Given the description of an element on the screen output the (x, y) to click on. 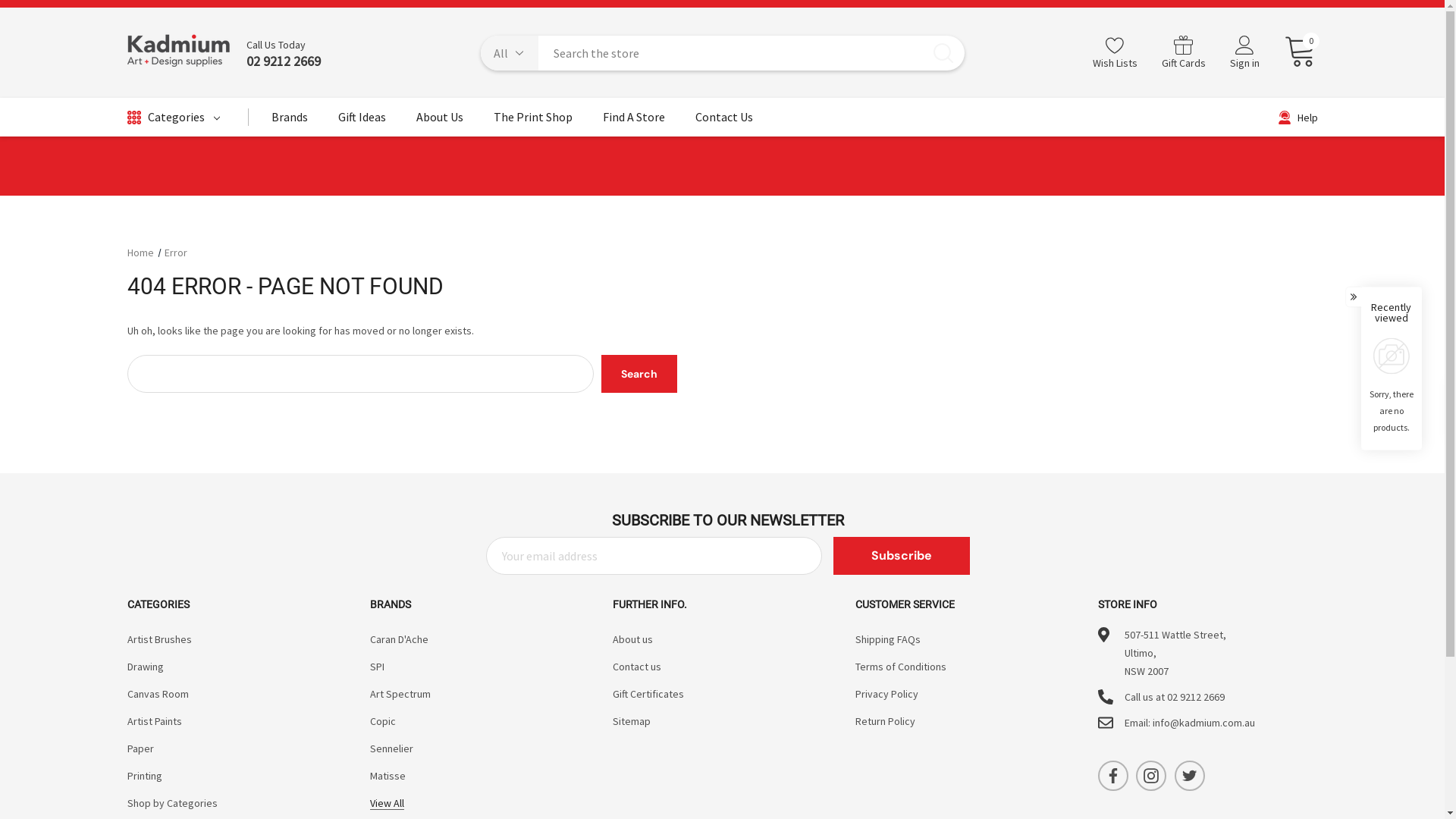
Home Element type: text (140, 252)
Return Policy Element type: text (885, 721)
Sennelier Element type: text (391, 748)
Error Element type: text (175, 252)
Gift Cards Element type: text (1183, 53)
Open Instagram in a new tab Element type: hover (1150, 775)
0 Element type: text (1293, 52)
View All Element type: text (387, 802)
Brands Element type: text (289, 120)
Wish Lists Element type: text (1113, 53)
Caran D'Ache Element type: text (399, 639)
Open Twitter in a new tab Element type: hover (1189, 775)
Artist Paints Element type: text (154, 721)
Contact us Element type: text (636, 666)
Sitemap Element type: text (631, 721)
Search Element type: text (639, 373)
SPI Element type: text (377, 666)
Open Facebook in a new tab Element type: hover (1113, 775)
Drawing Element type: text (145, 666)
Terms of Conditions Element type: text (900, 666)
Subscribe Element type: text (901, 555)
Art Spectrum Element type: text (400, 693)
Privacy Policy Element type: text (886, 693)
Matisse Element type: text (387, 775)
info@kadmium.com.au Element type: text (1203, 722)
Sign in Element type: text (1244, 53)
Call Us Today
02 9212 2669 Element type: text (275, 52)
Paper Element type: text (140, 748)
Gift Ideas Element type: text (361, 120)
Kadmium | Art + Design supplies Element type: hover (179, 52)
About Us Element type: text (438, 120)
Categories Element type: text (173, 117)
Find A Store Element type: text (633, 120)
Help Element type: text (1297, 117)
Contact Us Element type: text (723, 120)
About us Element type: text (632, 639)
Printing Element type: text (144, 775)
Shop by Categories Element type: text (172, 802)
Artist Brushes Element type: text (159, 639)
The Print Shop Element type: text (531, 120)
Gift Certificates Element type: text (648, 693)
Shipping FAQs Element type: text (887, 639)
Canvas Room Element type: text (157, 693)
Copic Element type: text (382, 721)
